Given the description of an element on the screen output the (x, y) to click on. 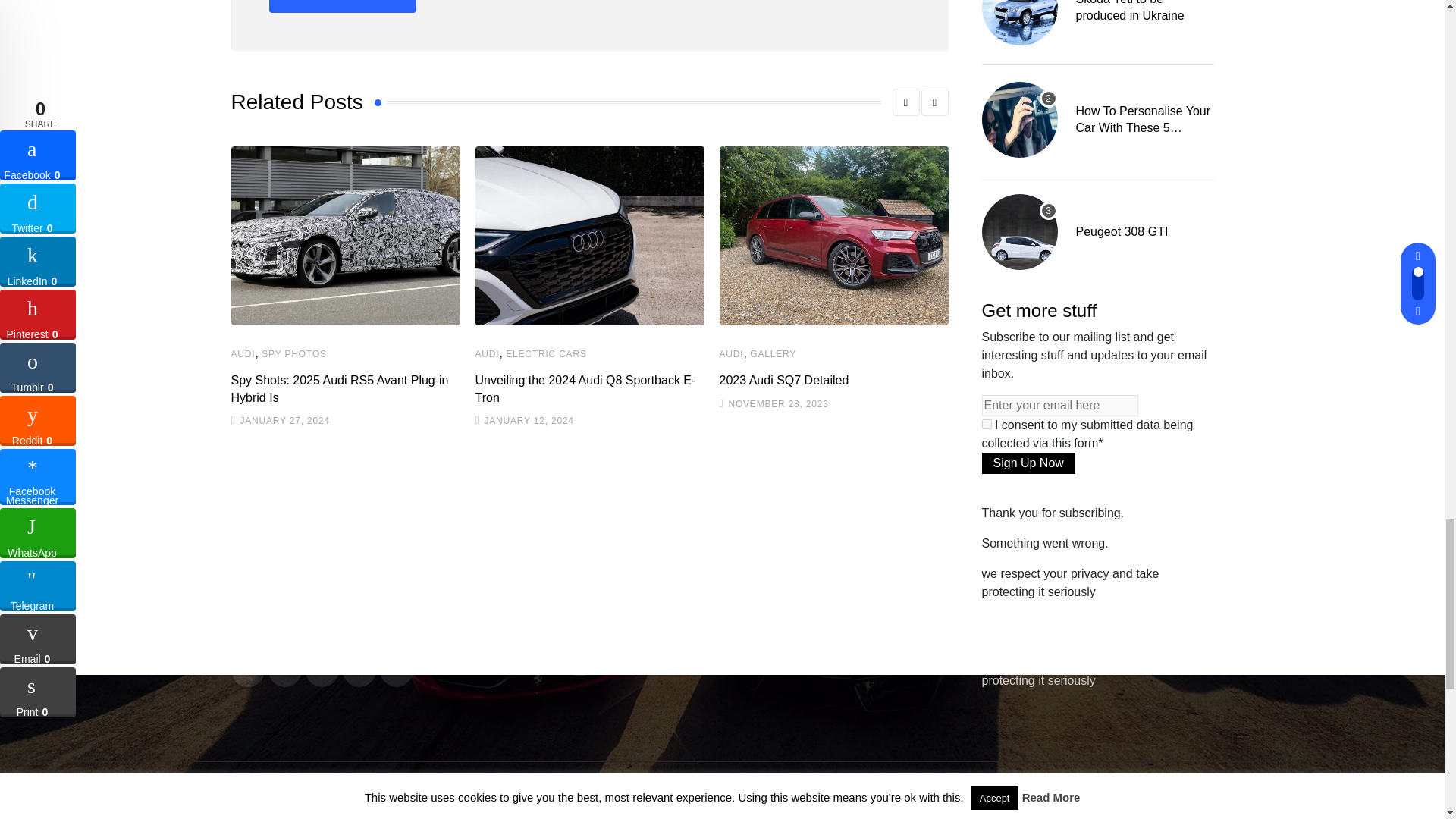
Post Comment (340, 6)
on (986, 424)
Sign Up Now (1027, 463)
